Given the description of an element on the screen output the (x, y) to click on. 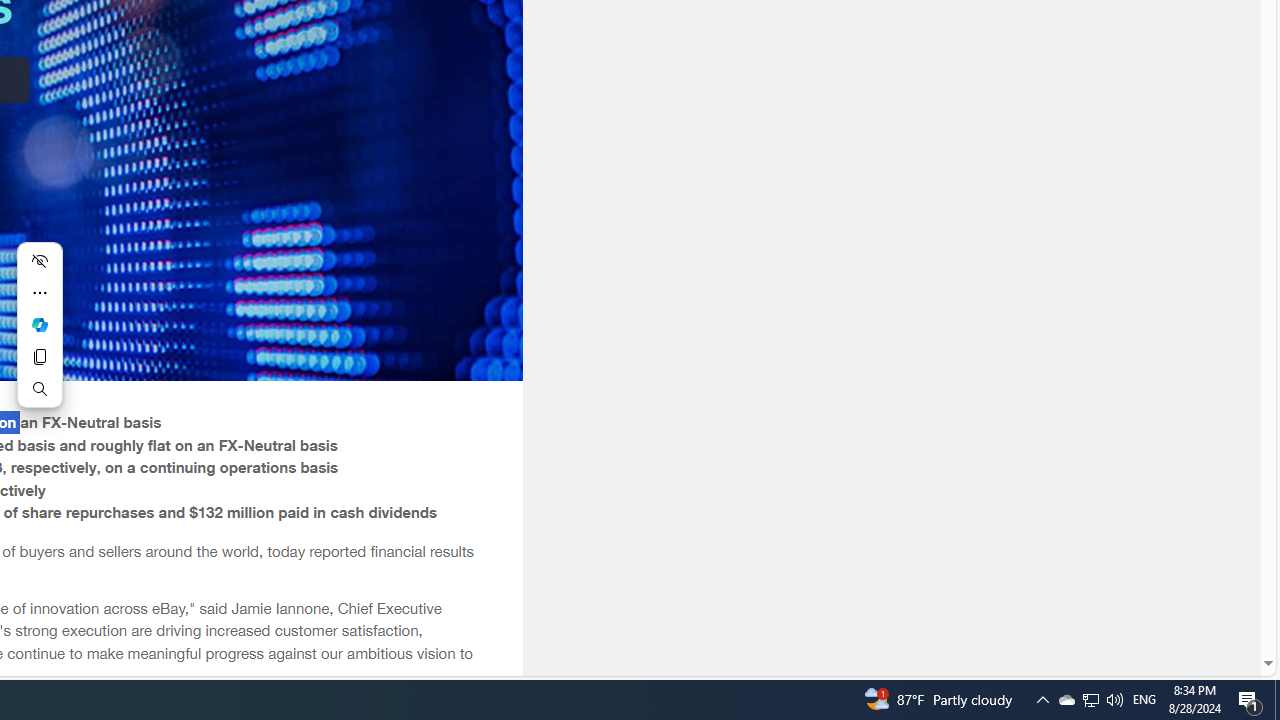
Mini menu on text selection (39, 324)
Hide menu (39, 260)
Ask Copilot (39, 324)
Copy (39, 356)
More actions (39, 292)
